Given the description of an element on the screen output the (x, y) to click on. 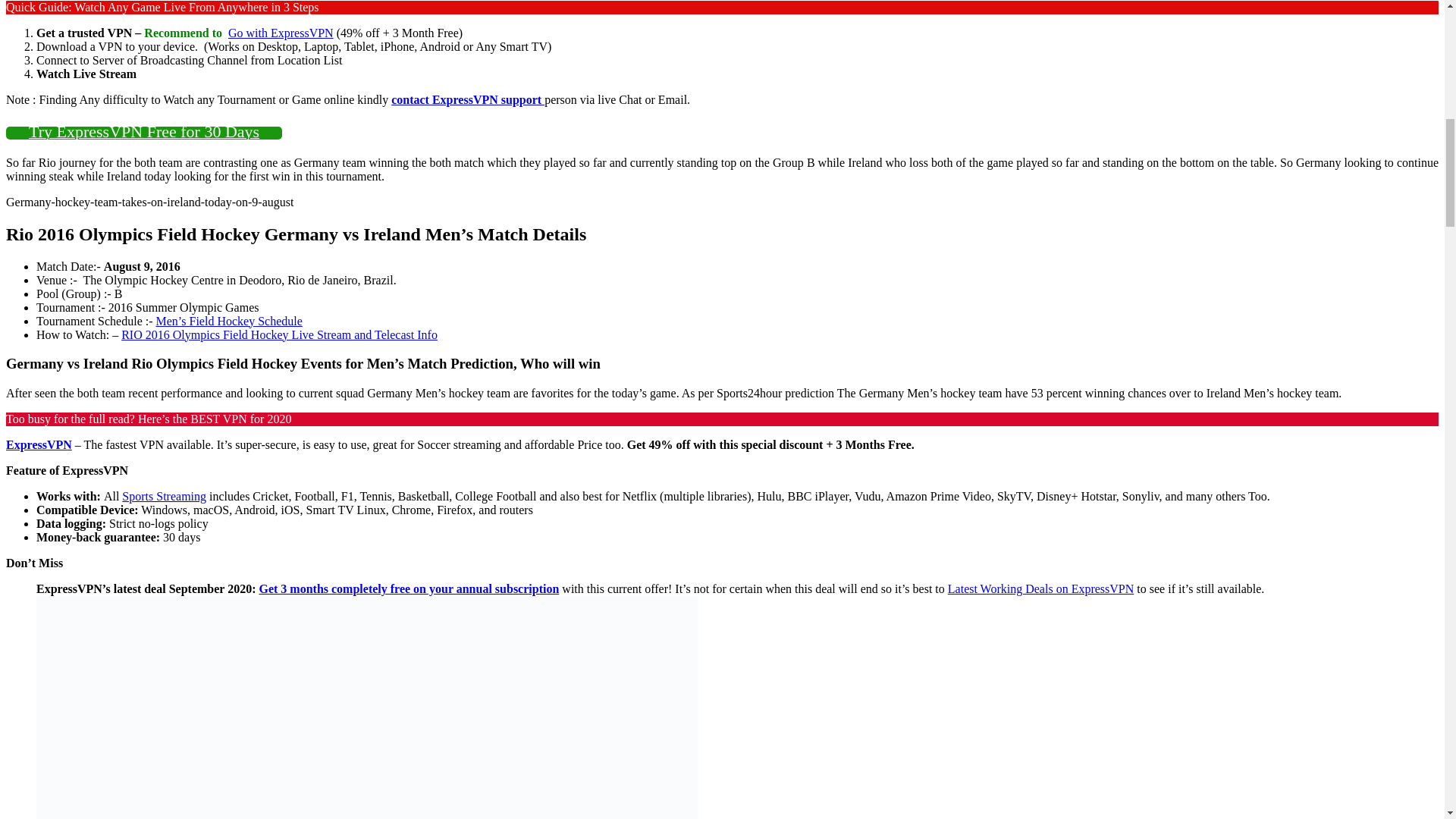
Latest Working Deals on ExpressVPN (1040, 588)
Expressvpn Order (409, 588)
RIO 2016 Olympics Field Hockey Live Stream and Telecast Info (279, 334)
Expressvpn Order (280, 32)
Go with ExpressVPN (280, 32)
ExpressVPN (38, 444)
Try ExpressVPN Free for 30 Days (143, 132)
Get 3 months completely free on your annual subscription (409, 588)
Sports Streaming (164, 495)
